Given the description of an element on the screen output the (x, y) to click on. 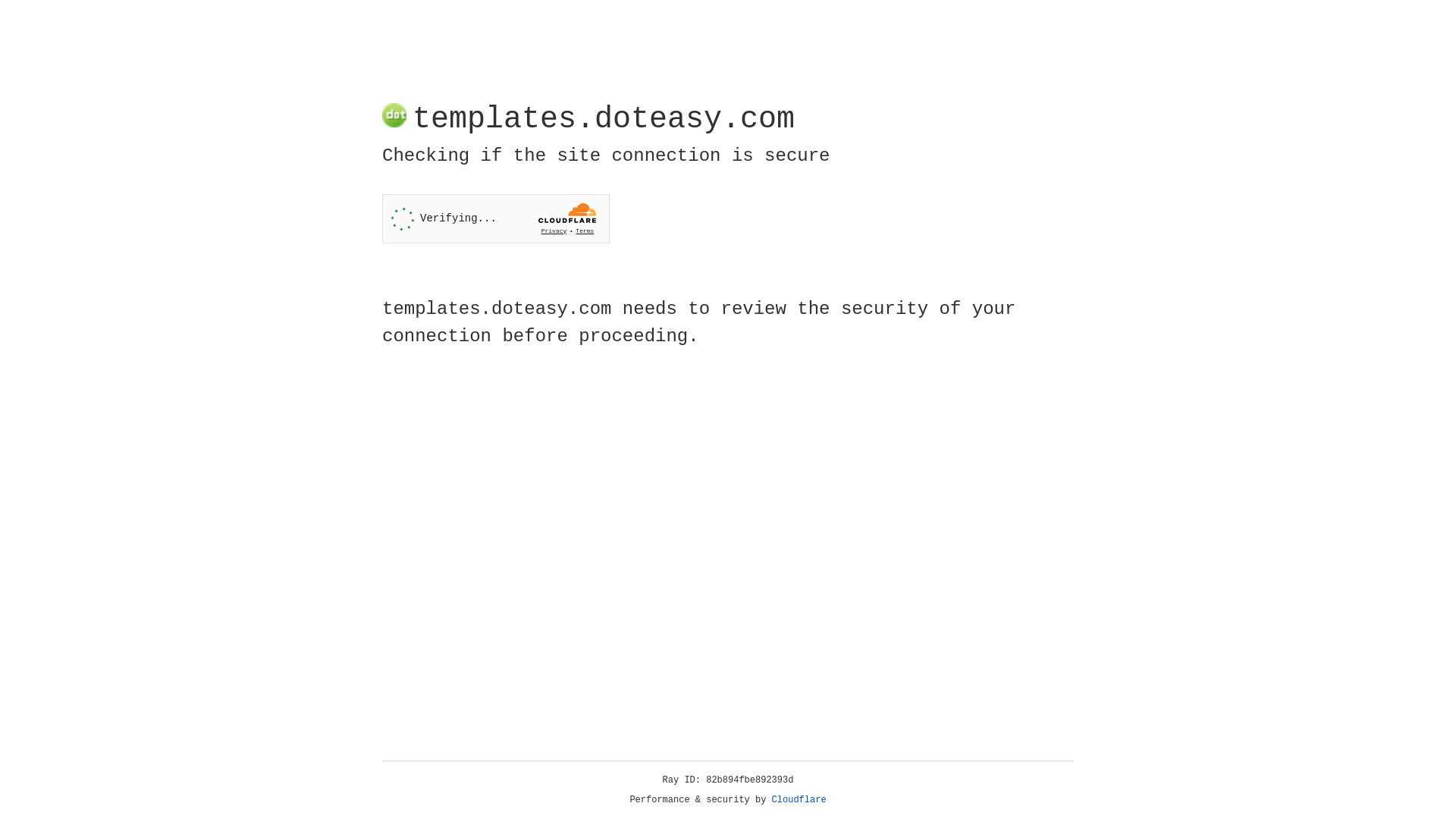
Widget containing a Cloudflare security challenge Element type: hover (495, 218)
Cloudflare Element type: text (798, 799)
